Given the description of an element on the screen output the (x, y) to click on. 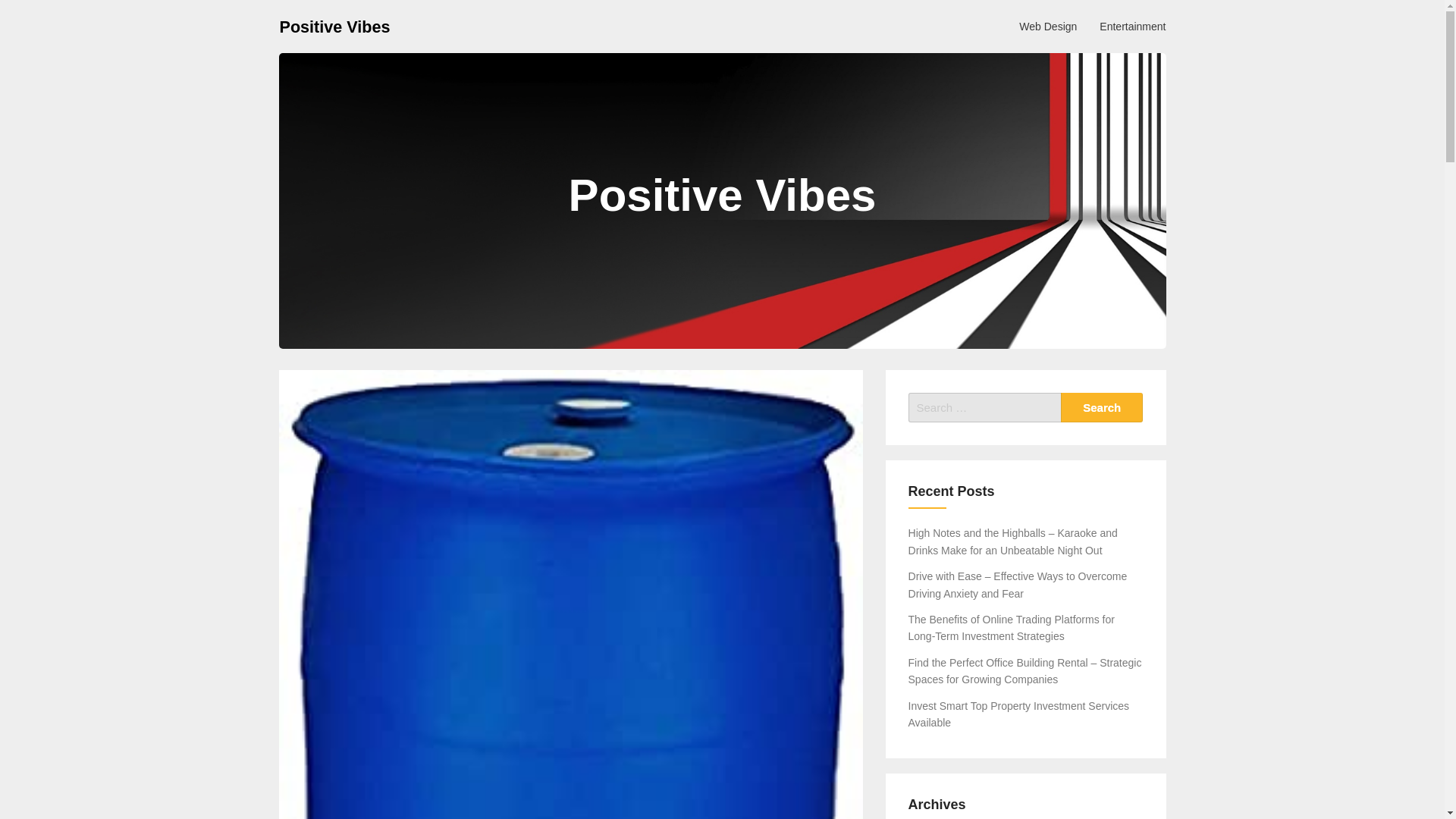
Web Design (1047, 26)
Entertainment (1131, 26)
Positive Vibes (334, 26)
Search (1101, 407)
Search (1101, 407)
Search (1101, 407)
Invest Smart Top Property Investment Services Available (1018, 713)
